Given the description of an element on the screen output the (x, y) to click on. 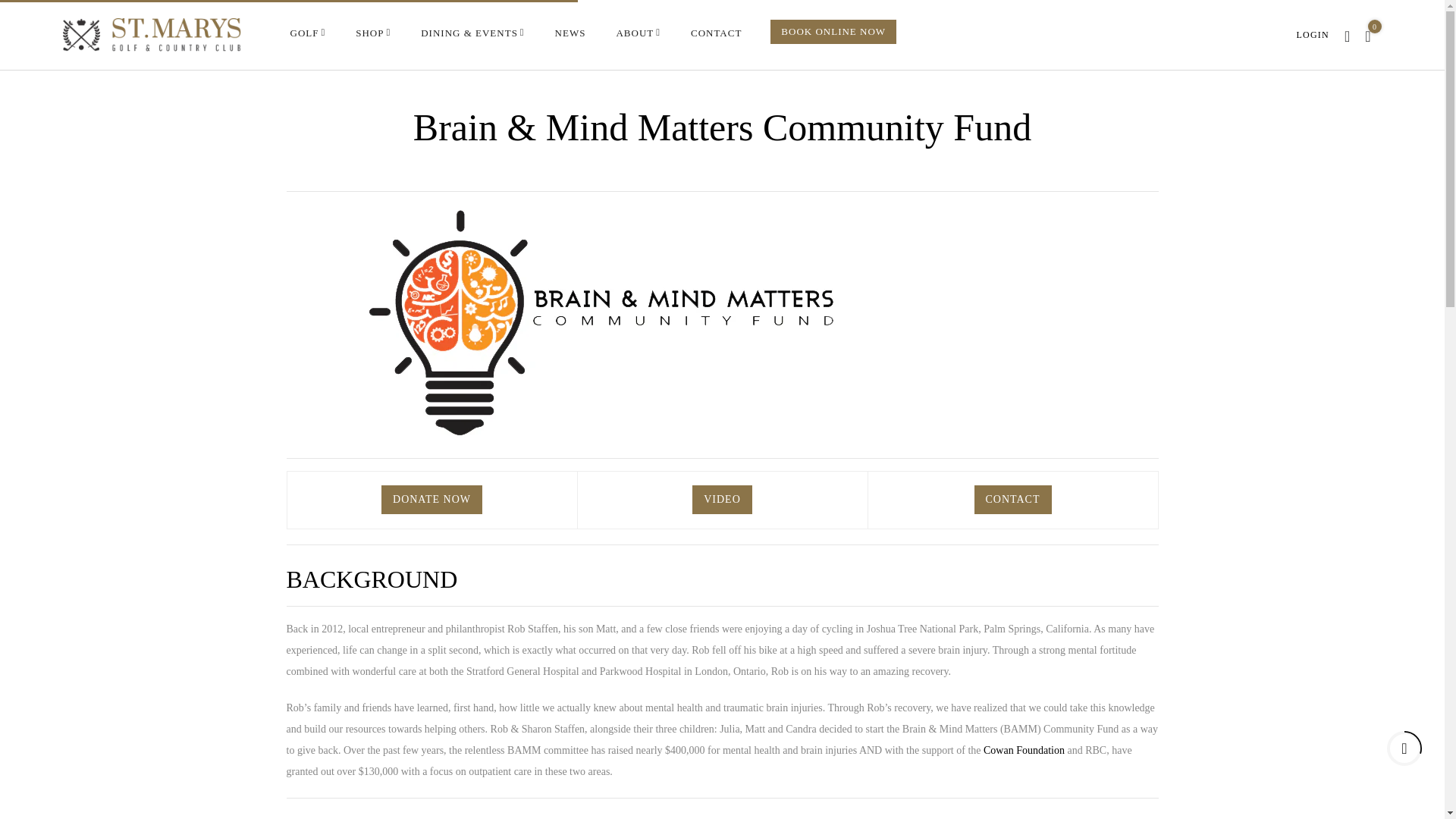
ABOUT (638, 33)
GOLF (306, 33)
NEWS (570, 33)
CONTACT (715, 33)
LOGIN (1313, 32)
BOOK ONLINE NOW (833, 31)
SHOP (372, 33)
